Given the description of an element on the screen output the (x, y) to click on. 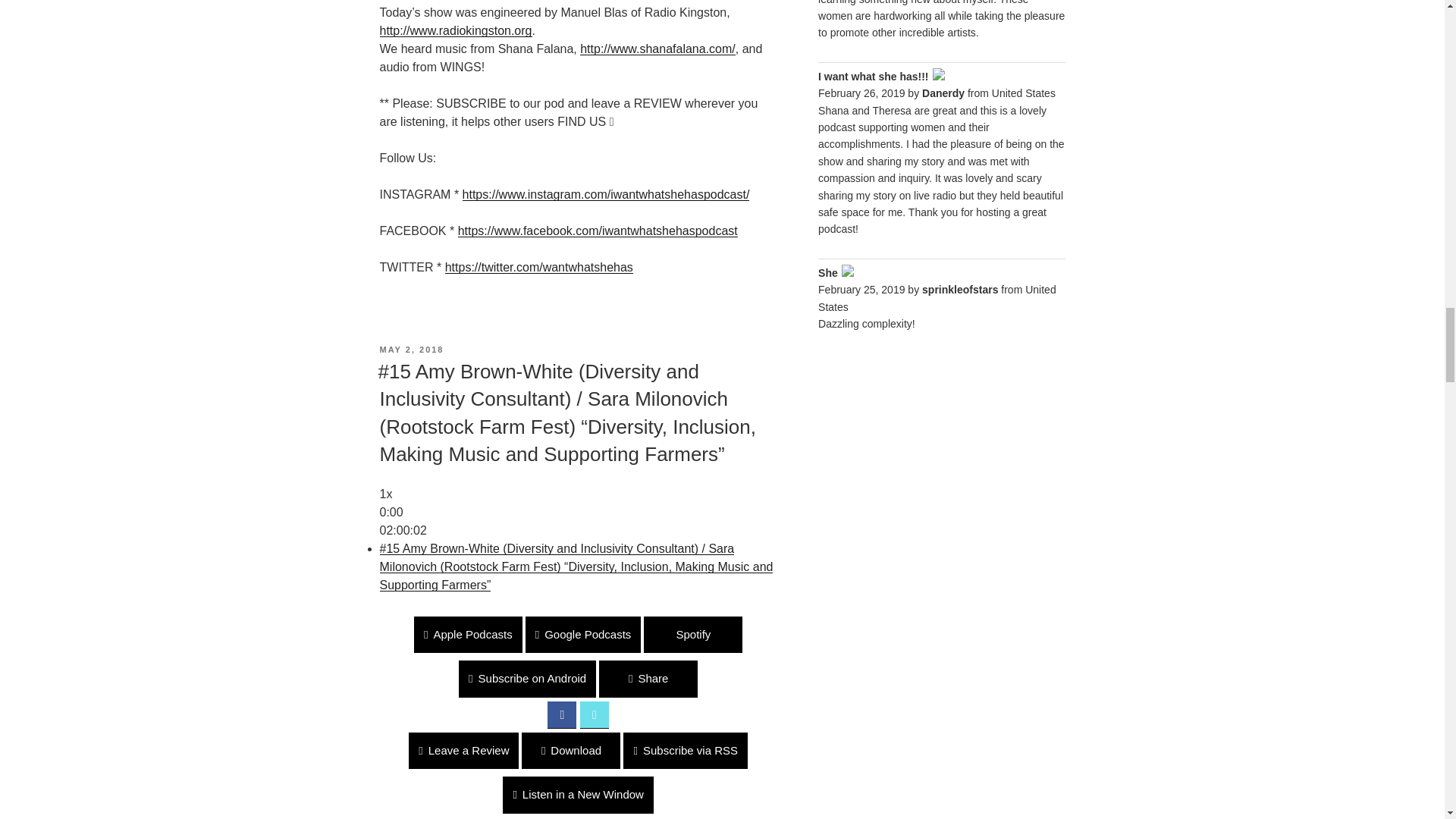
Share on Twitter (593, 714)
Share on Facebook (561, 714)
